Given the description of an element on the screen output the (x, y) to click on. 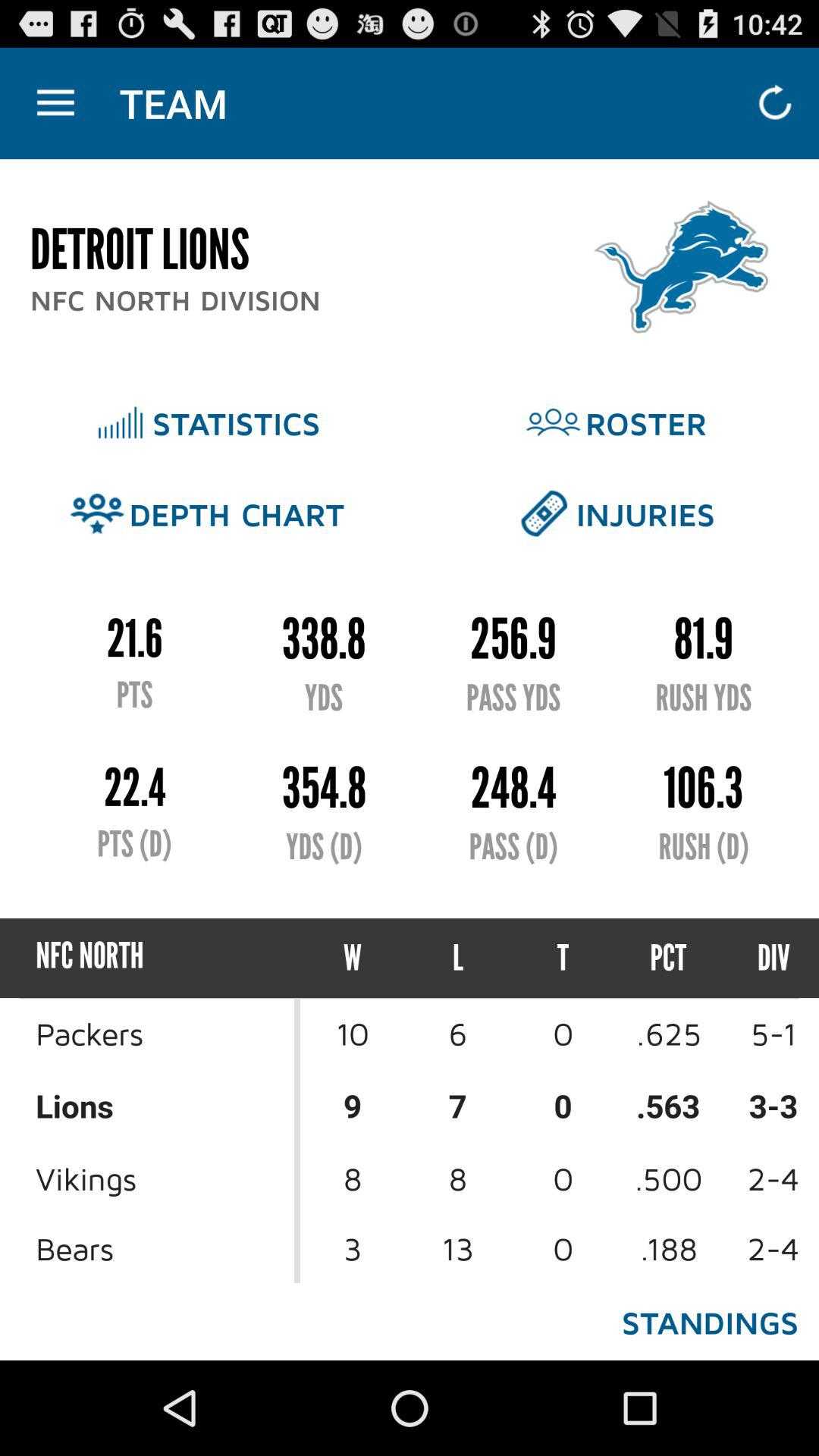
choose icon next to team icon (55, 103)
